Given the description of an element on the screen output the (x, y) to click on. 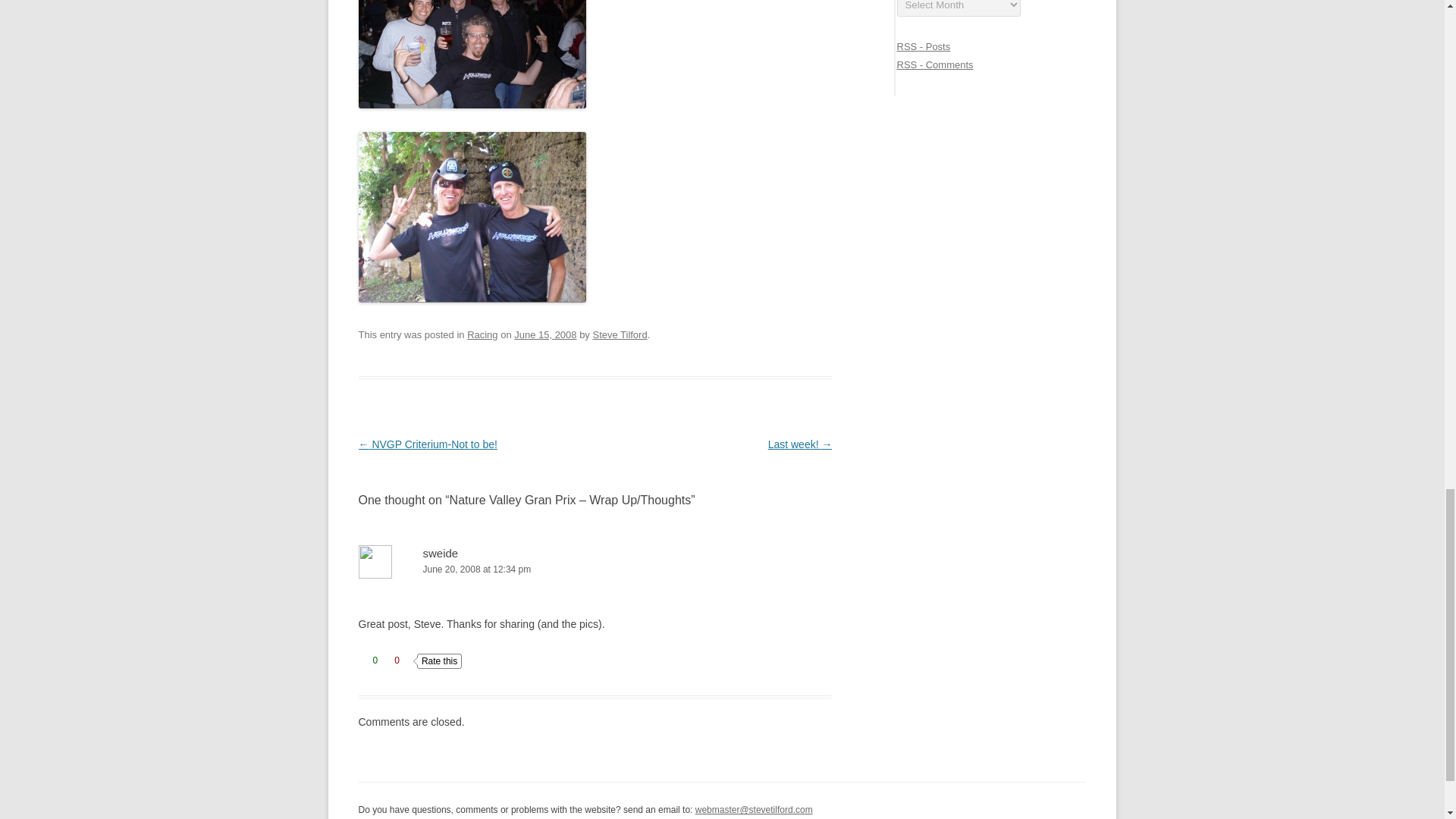
June 20, 2008 at 12:34 pm (594, 569)
Racing (482, 334)
p6151650 (471, 216)
View all posts by Steve Tilford (619, 334)
June 15, 2008 (544, 334)
p6131530 (471, 54)
Steve Tilford (619, 334)
7:26 pm (544, 334)
